Given the description of an element on the screen output the (x, y) to click on. 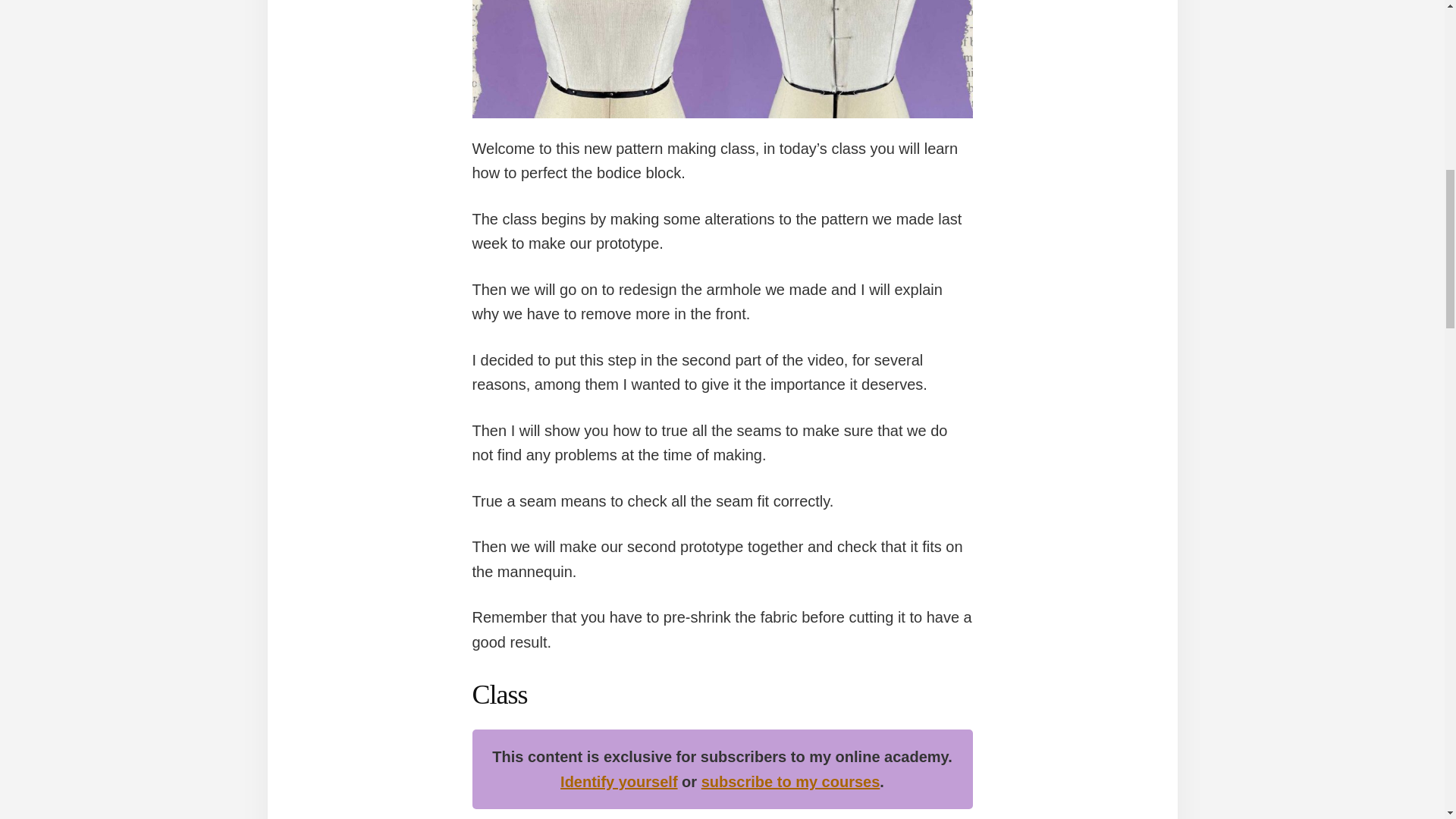
subscribe to my courses (790, 781)
Identify yourself (618, 781)
